Given the description of an element on the screen output the (x, y) to click on. 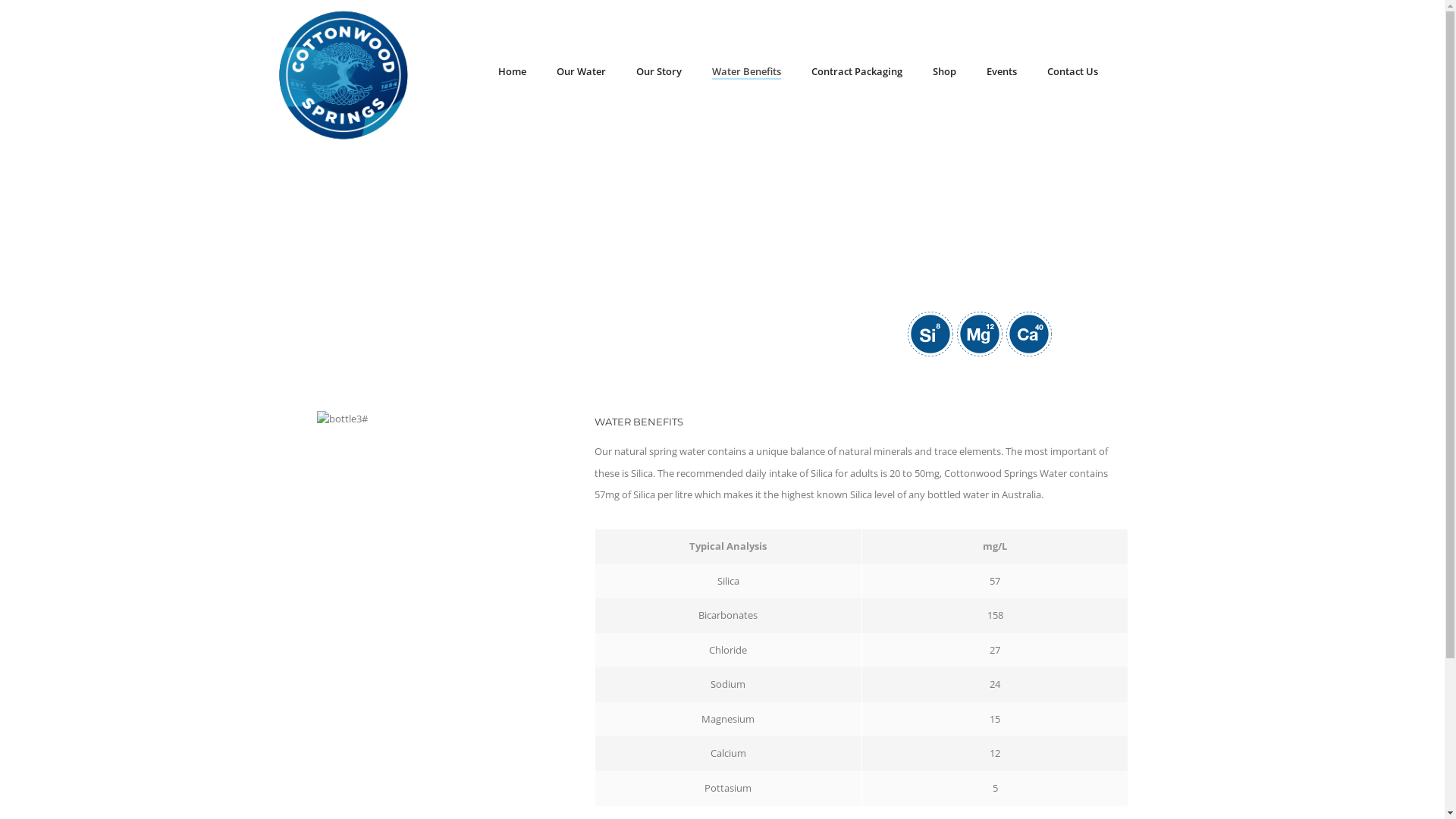
Contact Us Element type: text (1072, 43)
Our Story Element type: text (658, 43)
Water Benefits Element type: text (746, 43)
Home Element type: text (512, 43)
Events Element type: text (1001, 43)
Shop Element type: text (944, 43)
Contract Packaging Element type: text (856, 43)
Pure Spring Water Element type: hover (343, 74)
Our Water Element type: text (581, 43)
